Given the description of an element on the screen output the (x, y) to click on. 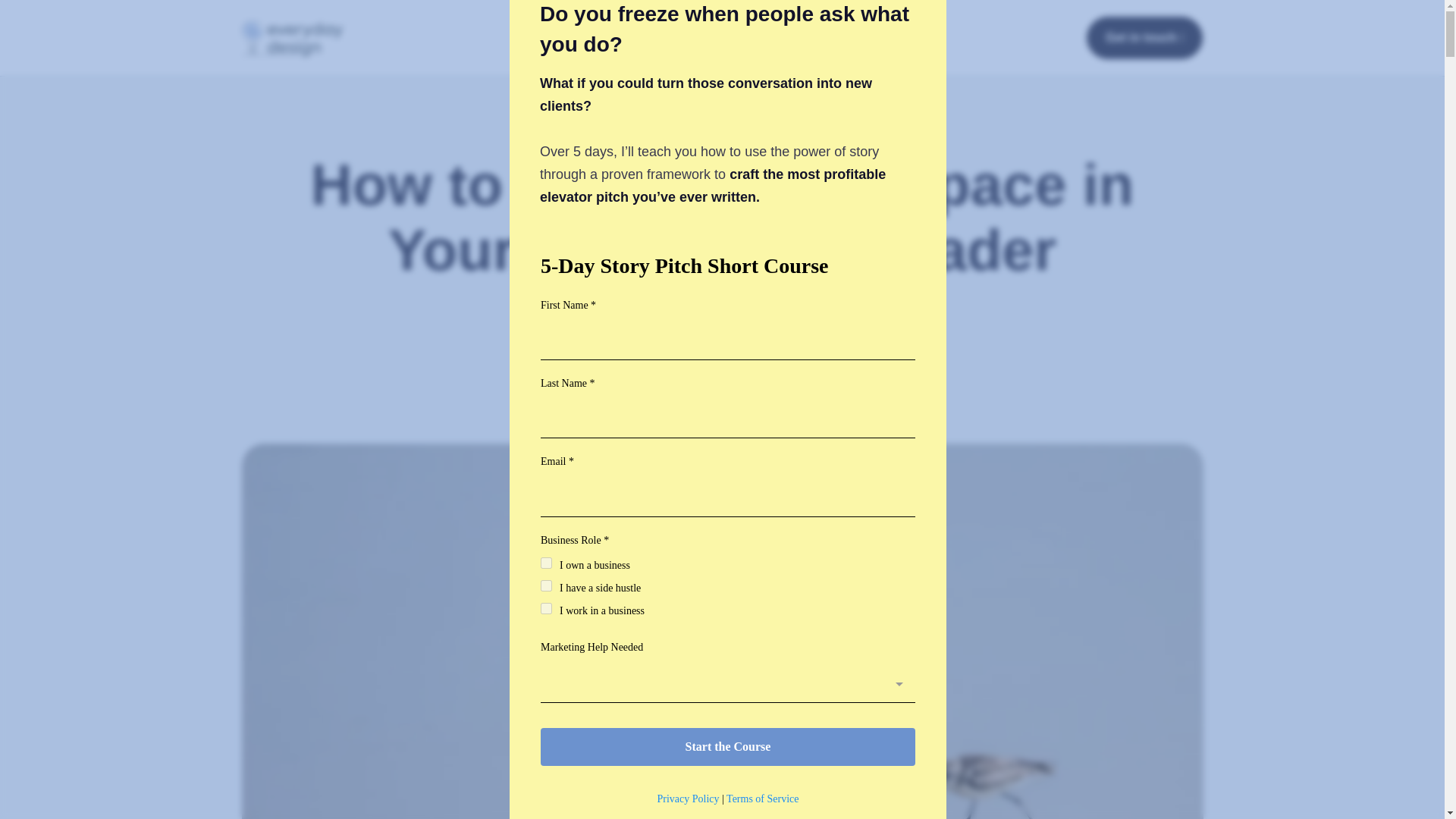
Leadership (675, 343)
